Given the description of an element on the screen output the (x, y) to click on. 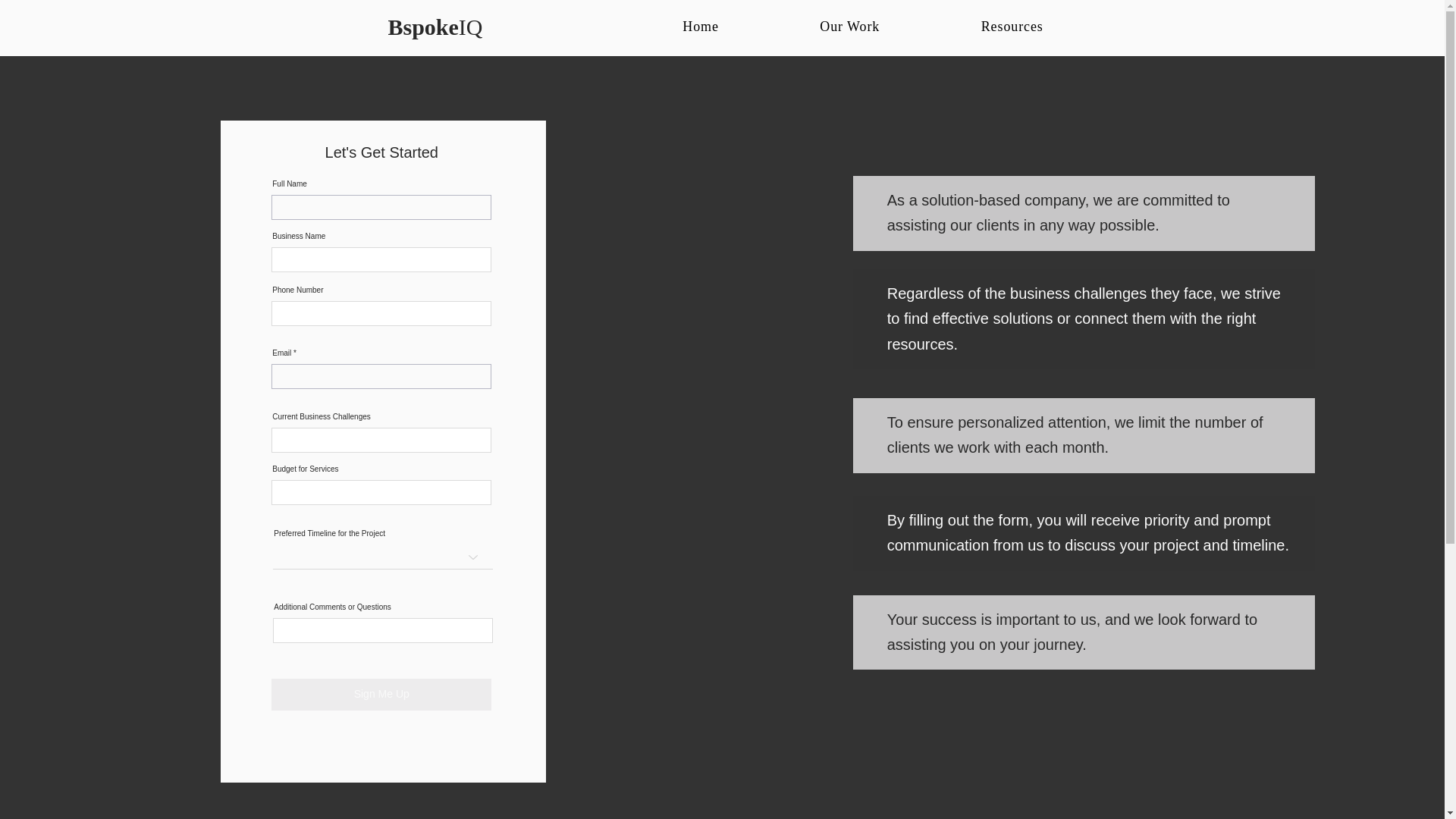
Our Work (850, 26)
Sign Me Up (381, 694)
Home (700, 26)
